Given the description of an element on the screen output the (x, y) to click on. 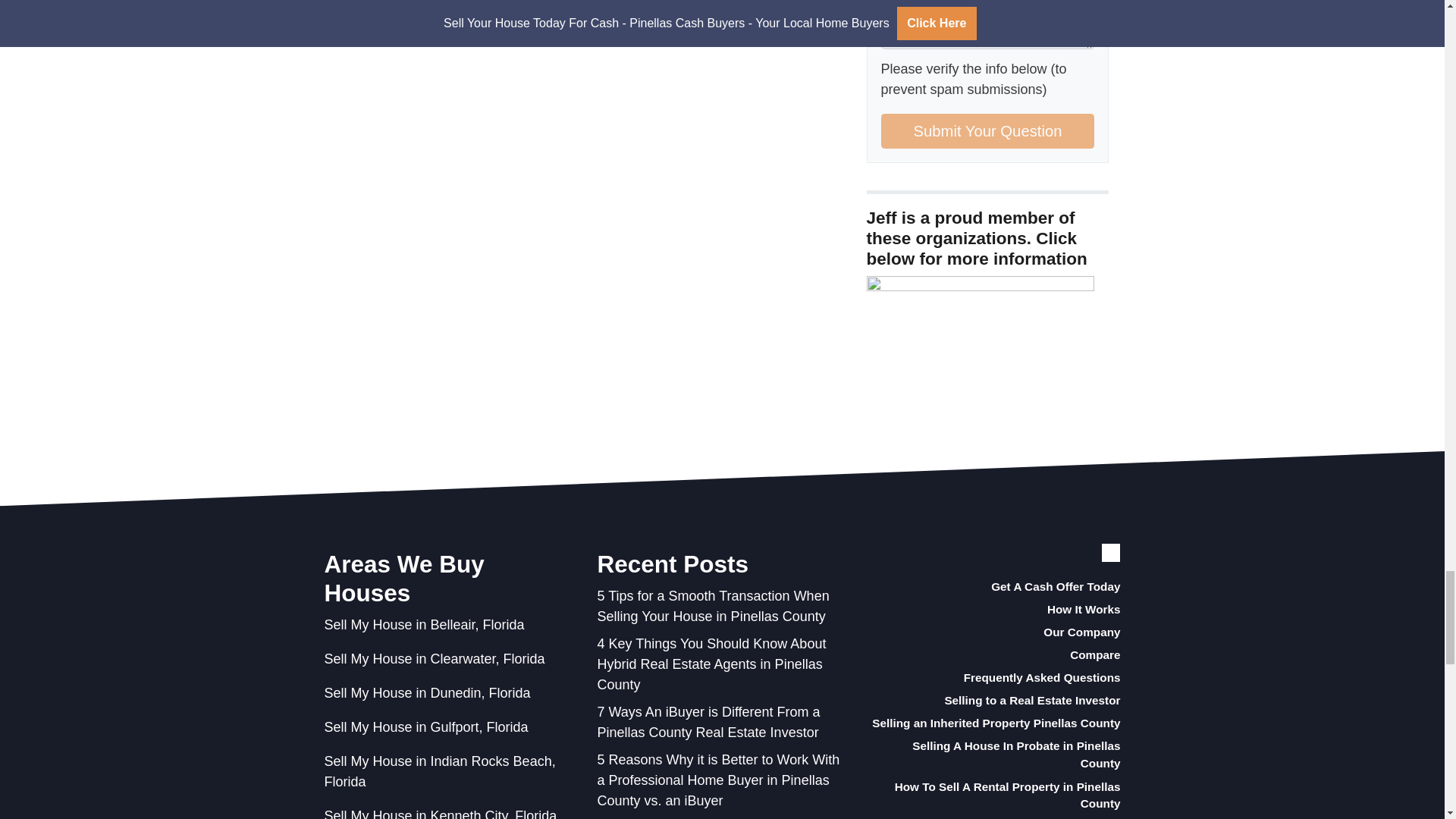
Submit Your Question  (987, 130)
